Given the description of an element on the screen output the (x, y) to click on. 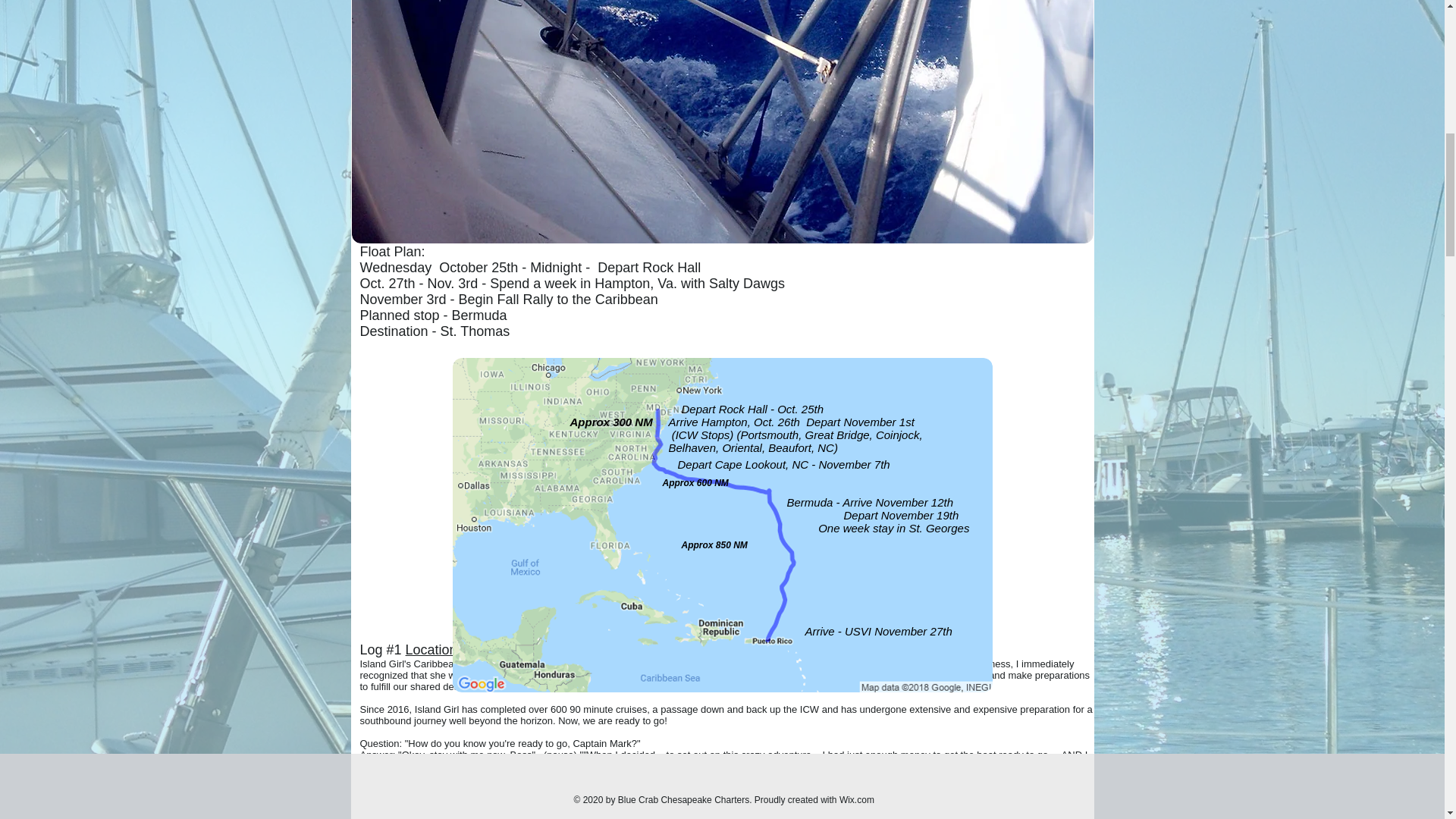
Location  (433, 649)
